Given the description of an element on the screen output the (x, y) to click on. 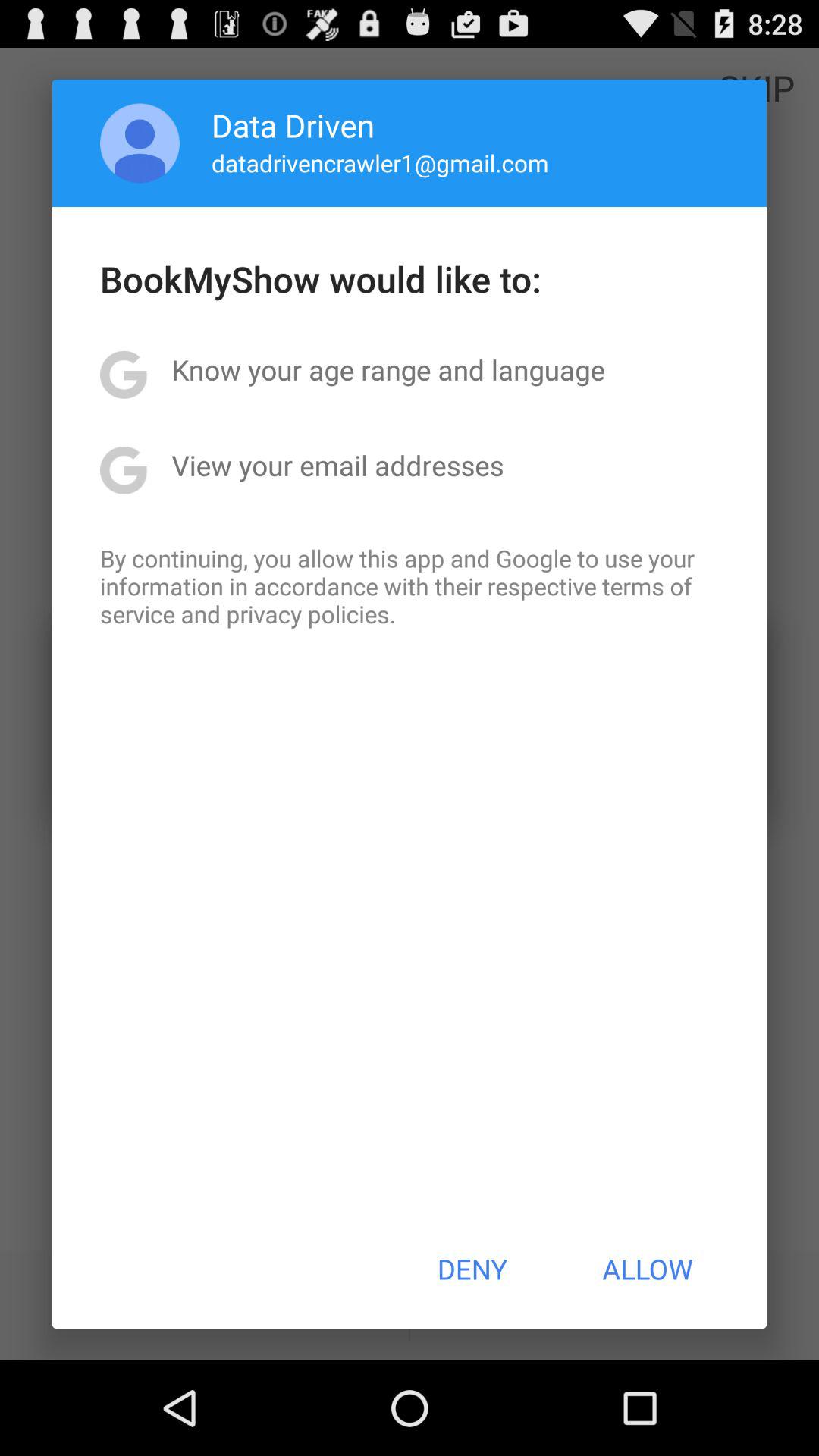
choose deny icon (471, 1268)
